Given the description of an element on the screen output the (x, y) to click on. 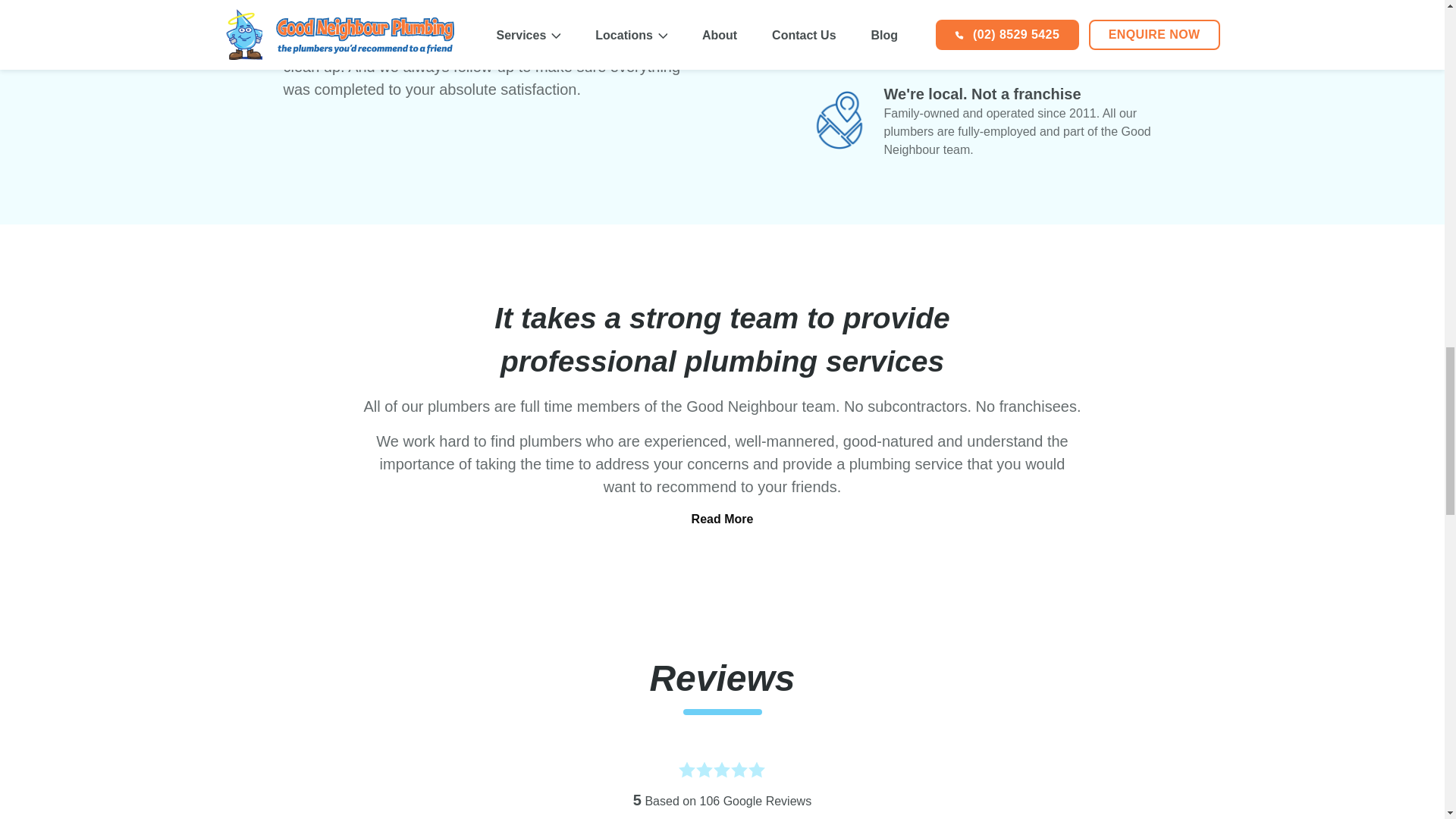
Read More (722, 518)
